Given the description of an element on the screen output the (x, y) to click on. 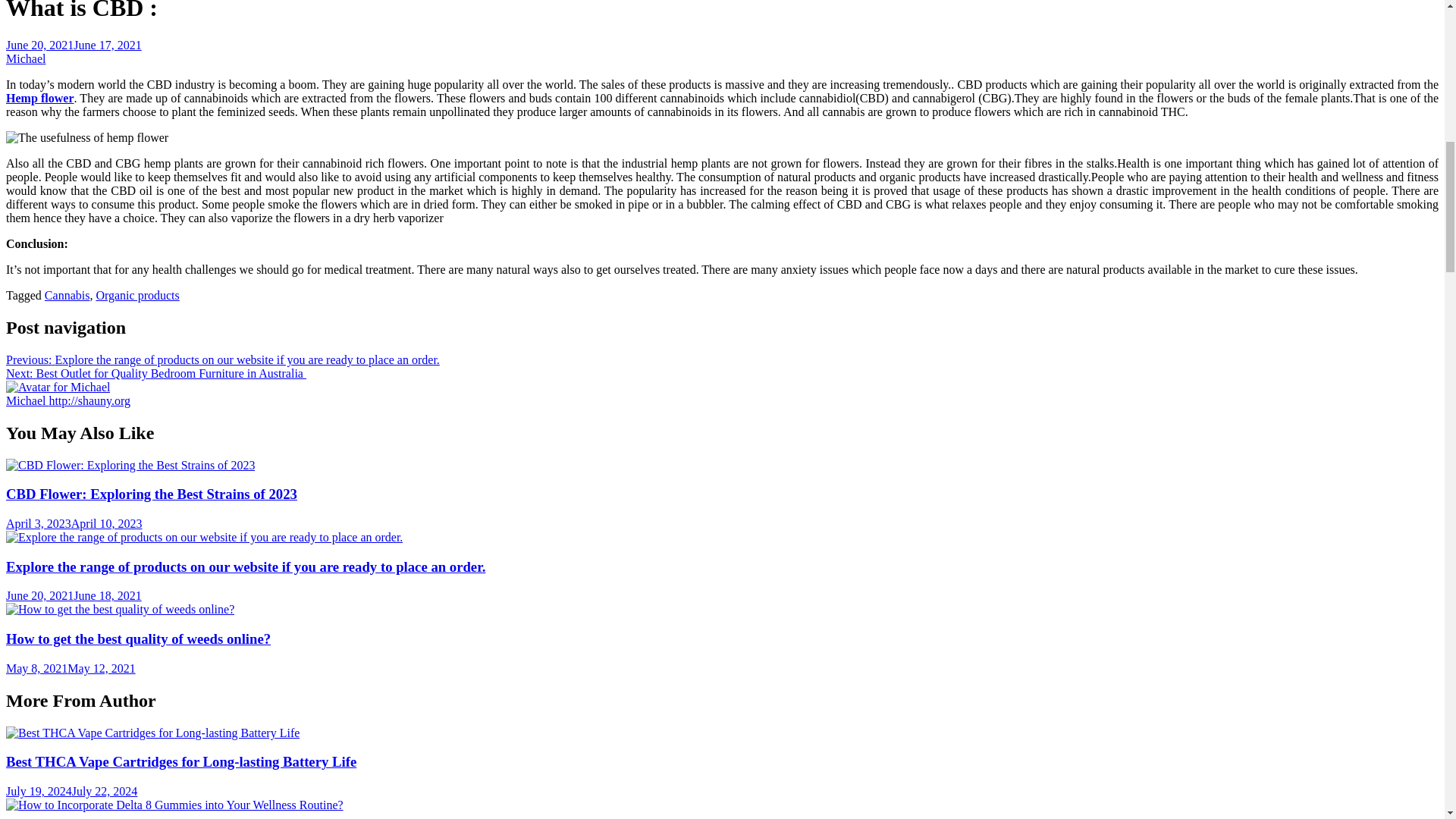
Michael (25, 58)
Hemp flower (39, 97)
Michael (26, 400)
Michael (57, 386)
June 20, 2021June 17, 2021 (73, 44)
